Given the description of an element on the screen output the (x, y) to click on. 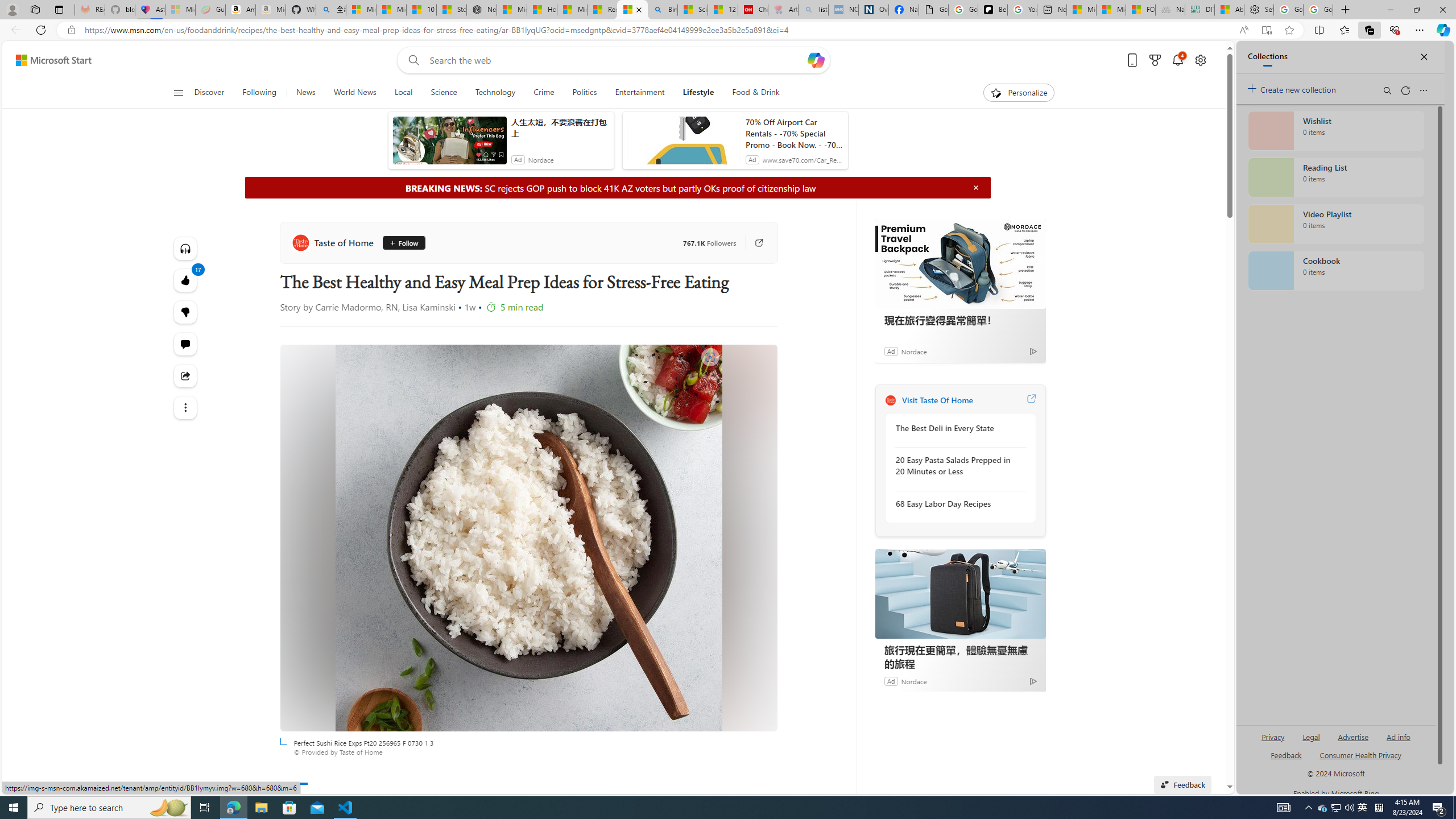
Open settings (1199, 60)
Google Analytics Opt-out Browser Add-on Download Page (933, 9)
Personalize (1019, 92)
Lifestyle (698, 92)
Skip to content (49, 59)
How I Got Rid of Microsoft Edge's Unnecessary Features (542, 9)
Class: at-item (184, 407)
Technology (495, 92)
